Given the description of an element on the screen output the (x, y) to click on. 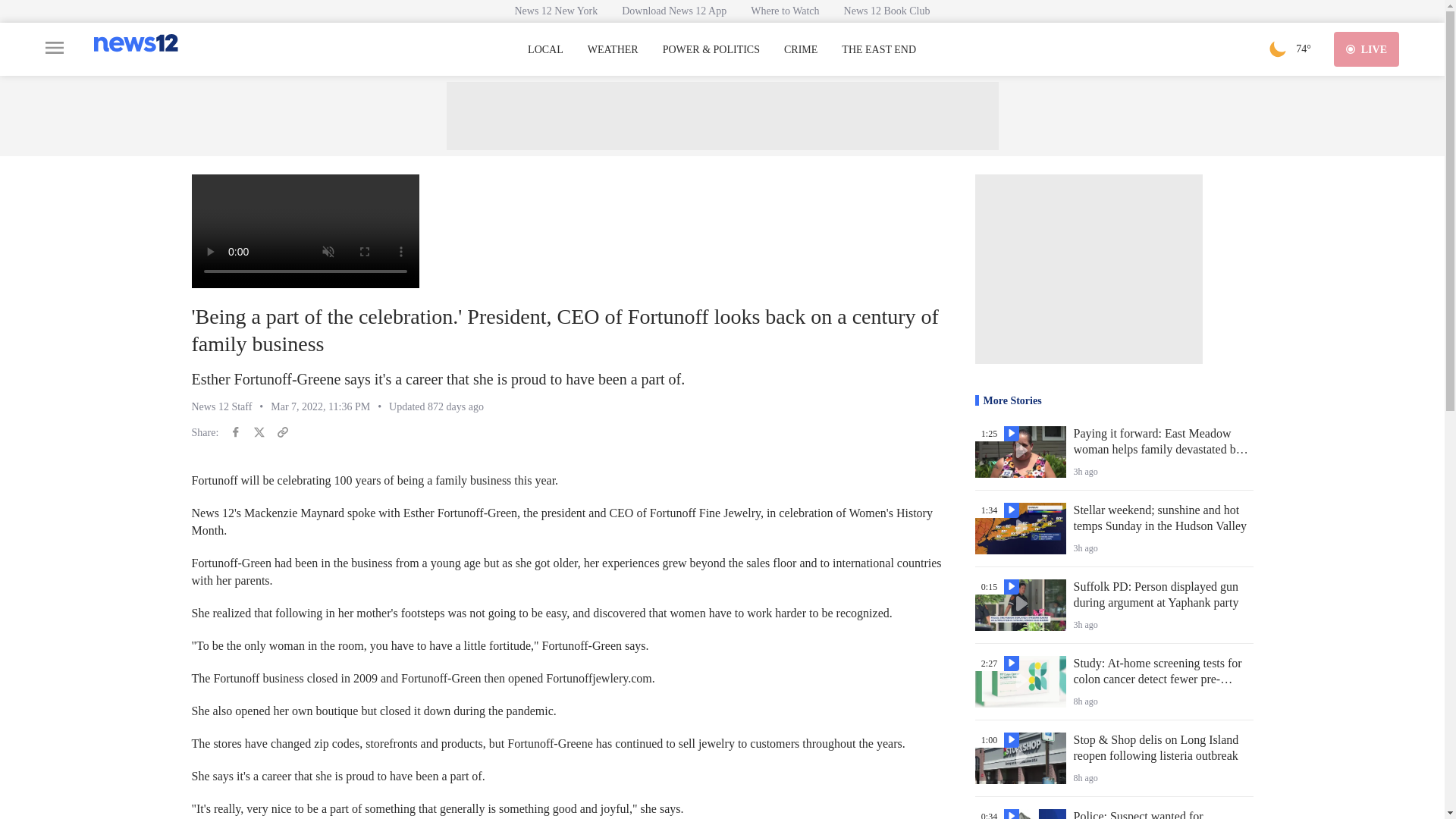
Where to Watch (784, 11)
News 12 Book Club (886, 11)
LIVE (1366, 48)
Clear (1277, 48)
WEATHER (613, 49)
Download News 12 App (673, 11)
THE EAST END (878, 49)
News 12 New York (556, 11)
CRIME (800, 49)
LOCAL (545, 49)
